Given the description of an element on the screen output the (x, y) to click on. 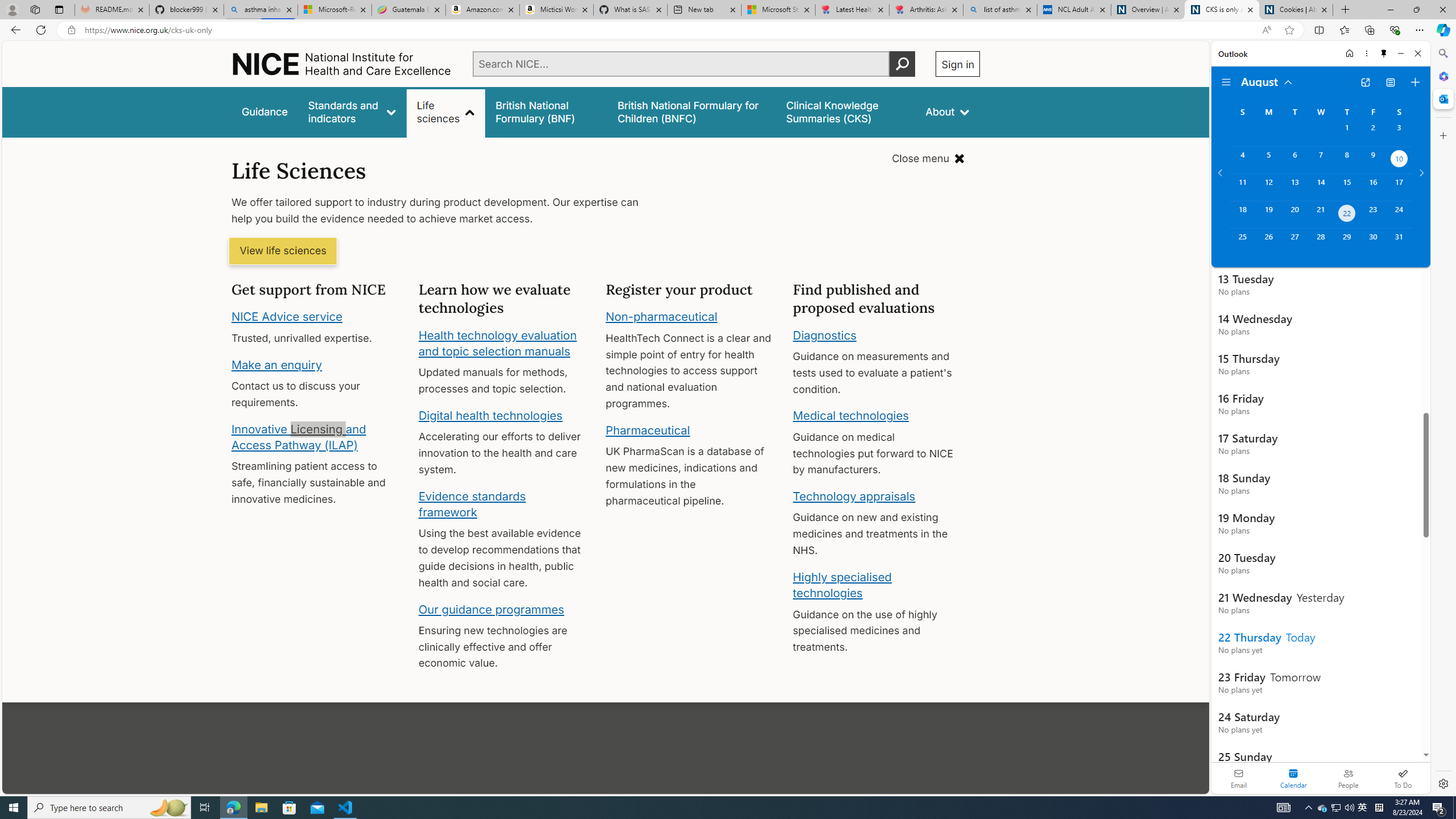
Our guidance programmes (490, 608)
People (1347, 777)
Email (1238, 777)
Innovative Licensing and Access Pathway (ILAP) (298, 436)
Selected calendar module. Date today is 22 (1293, 777)
Home (341, 63)
Create event (1414, 82)
Thursday, August 15, 2024.  (1346, 186)
